Given the description of an element on the screen output the (x, y) to click on. 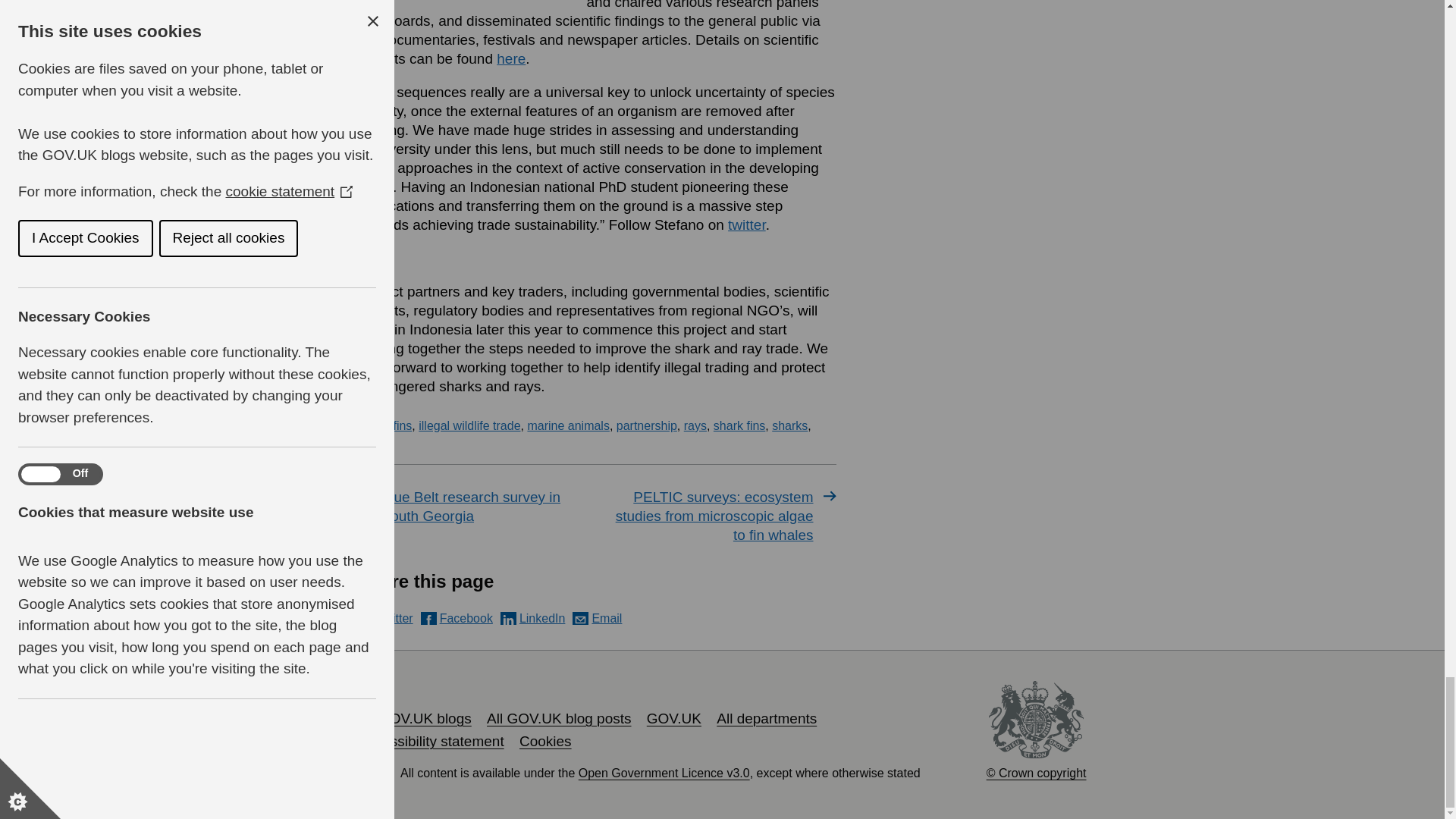
fins (402, 425)
rays (695, 425)
shark fins (739, 425)
here (510, 58)
sharks (789, 425)
marine animals (567, 425)
twitter (746, 224)
partnership (646, 425)
illegal wildlife trade (469, 425)
